Given the description of an element on the screen output the (x, y) to click on. 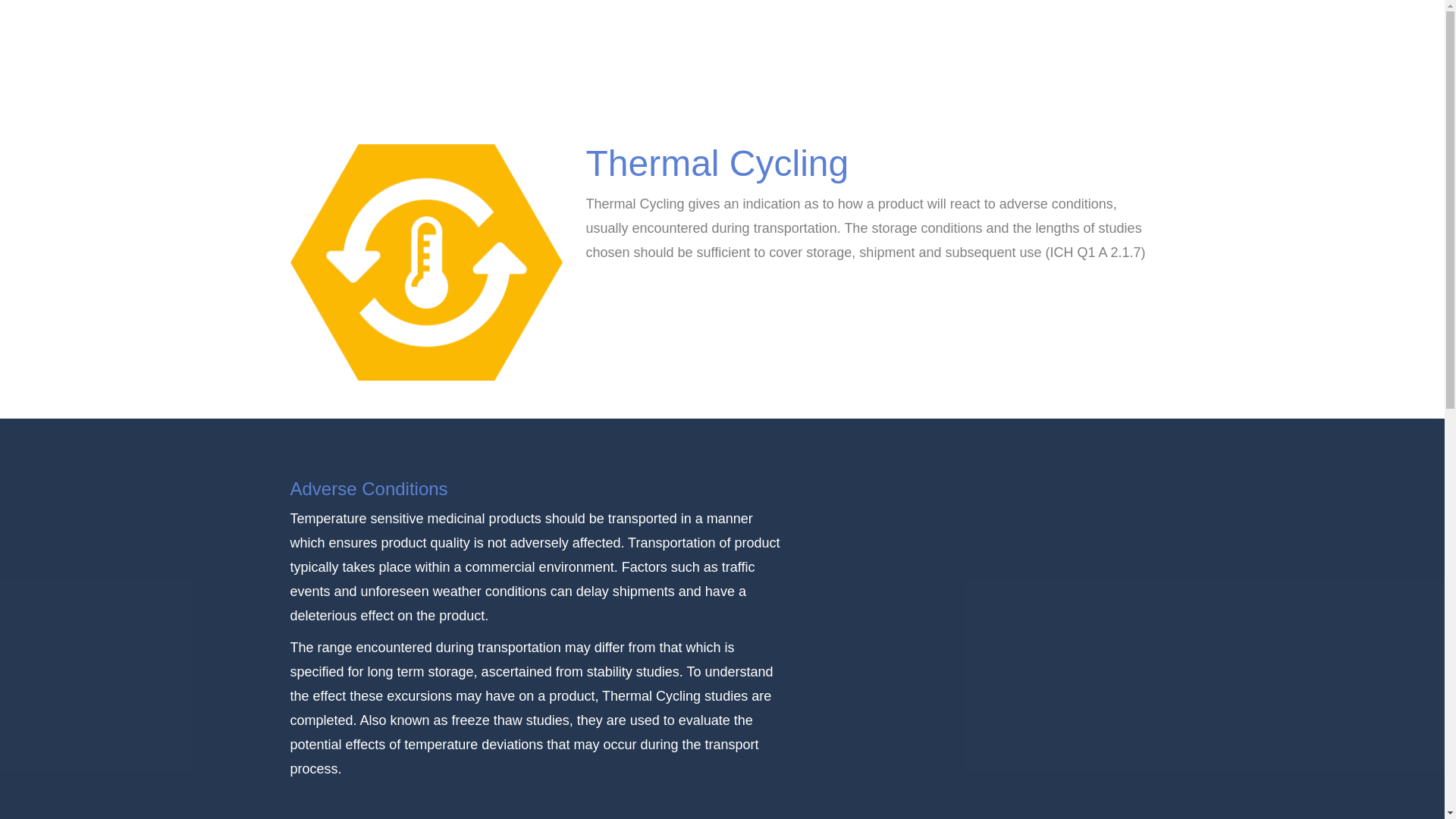
ABOUT US (831, 47)
WHY OUTSOURCE (716, 47)
SERVICES (919, 47)
QUALITY (1003, 47)
HOME (615, 47)
Cambrex.com (1038, 11)
NEWS (1072, 47)
Book Now (973, 11)
CONTACT (627, 87)
Client Login (1116, 11)
